Given the description of an element on the screen output the (x, y) to click on. 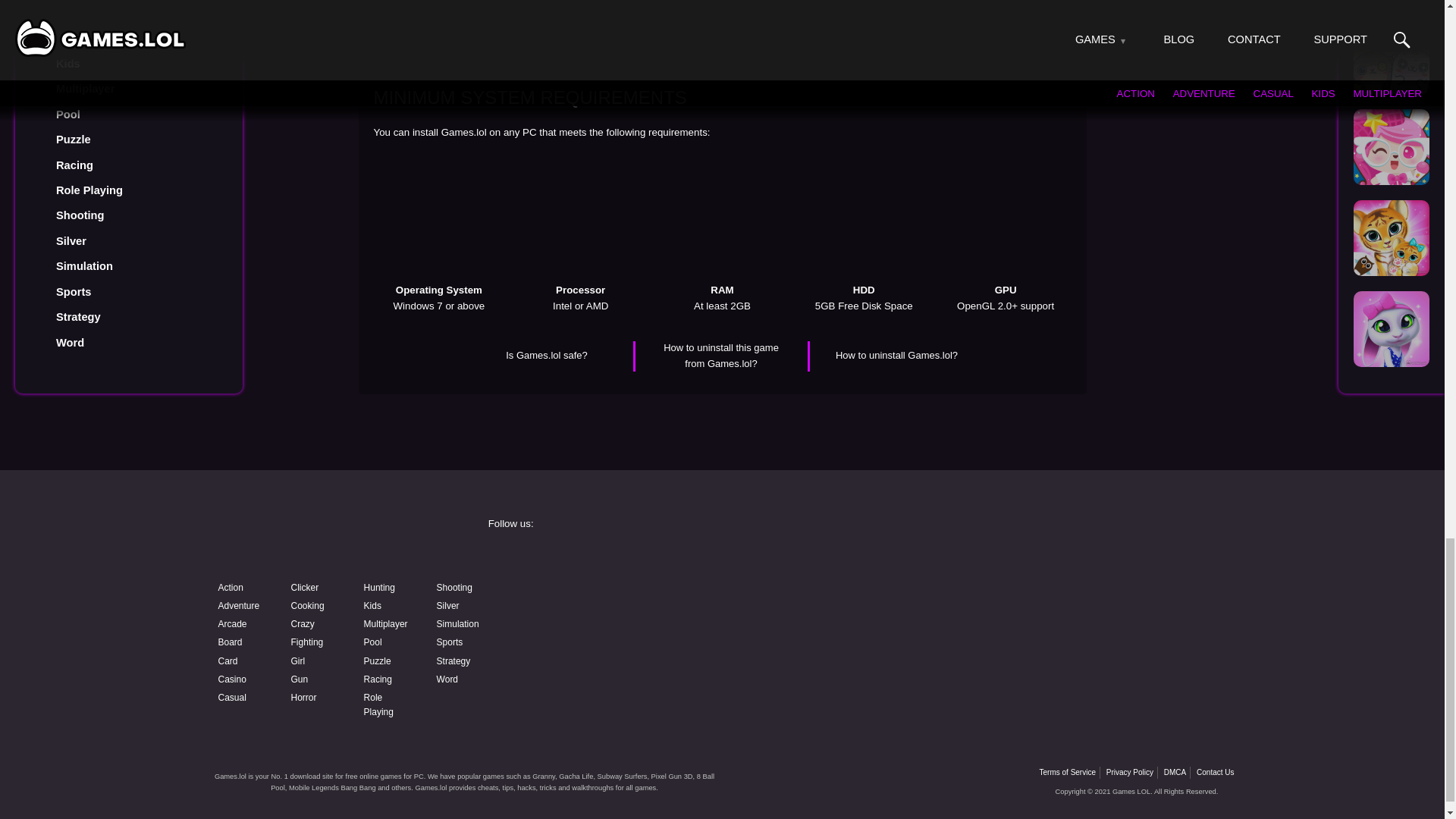
YouTube (603, 598)
Twitter (1073, 558)
Games.lol free game download website logo (319, 538)
Facebook (603, 558)
Discord (838, 598)
Instagram (838, 558)
